Given the description of an element on the screen output the (x, y) to click on. 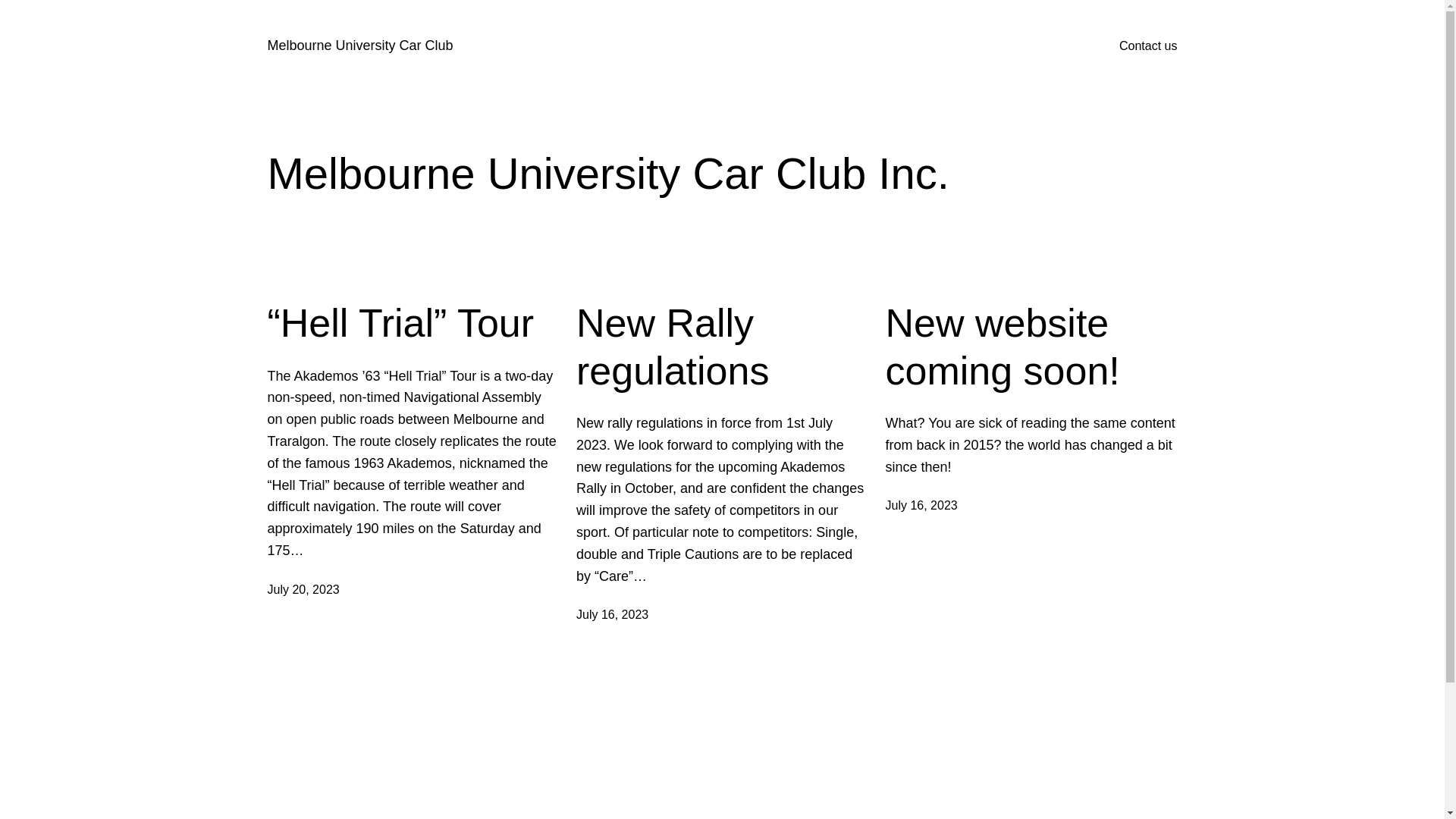
July 16, 2023 Element type: text (921, 504)
Contact us Element type: text (1147, 46)
Melbourne University Car Club Element type: text (359, 45)
July 20, 2023 Element type: text (302, 589)
New Rally regulations Element type: text (722, 346)
July 16, 2023 Element type: text (612, 614)
New website coming soon! Element type: text (1031, 346)
